Given the description of an element on the screen output the (x, y) to click on. 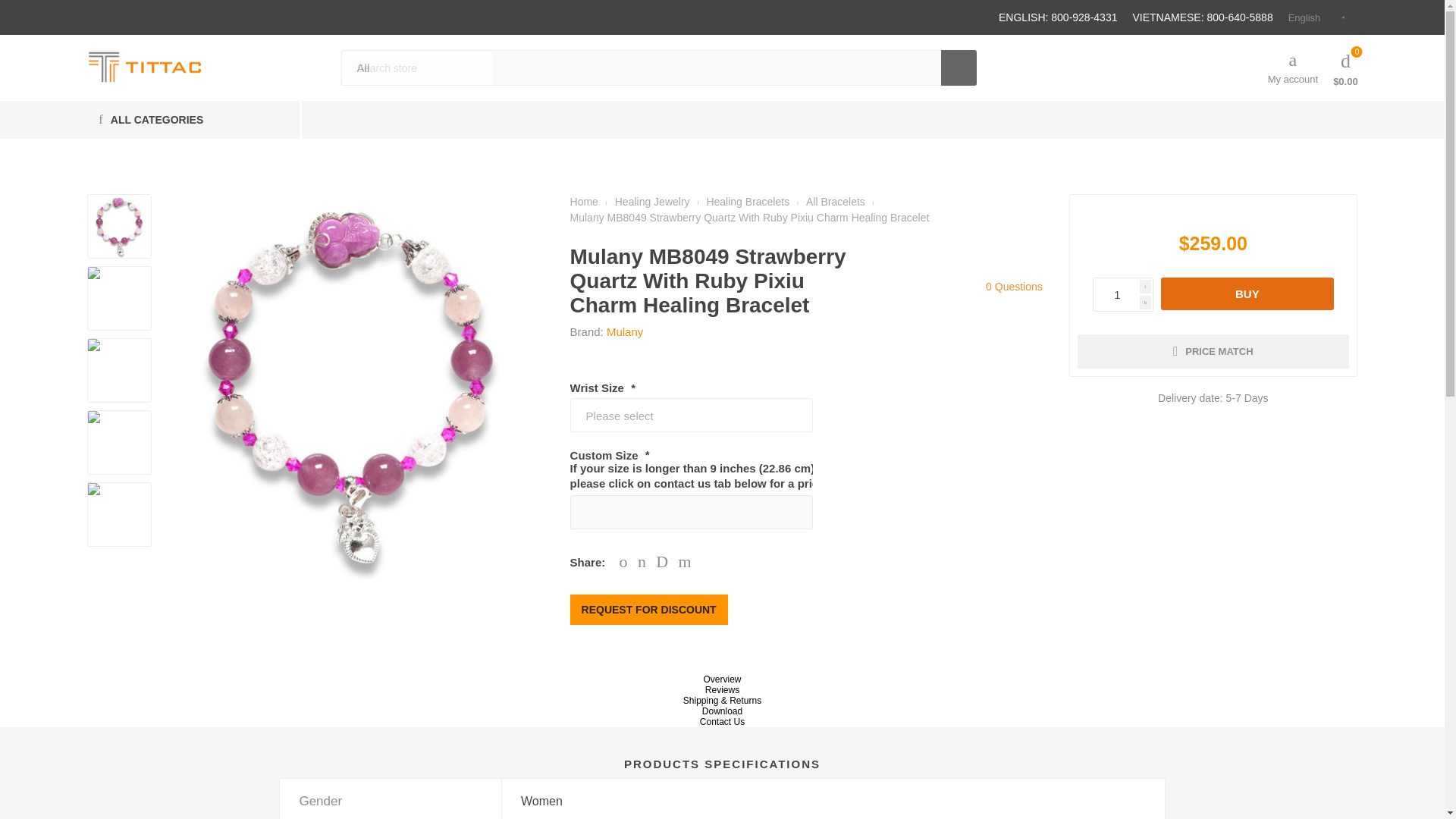
VIETNAMESE: 800-640-5888 (1202, 17)
tittac (144, 66)
SEARCH (958, 67)
Request For Discount (649, 609)
ENGLISH: 800-928-4331 (1057, 17)
My account (1292, 67)
1 (1116, 294)
